Given the description of an element on the screen output the (x, y) to click on. 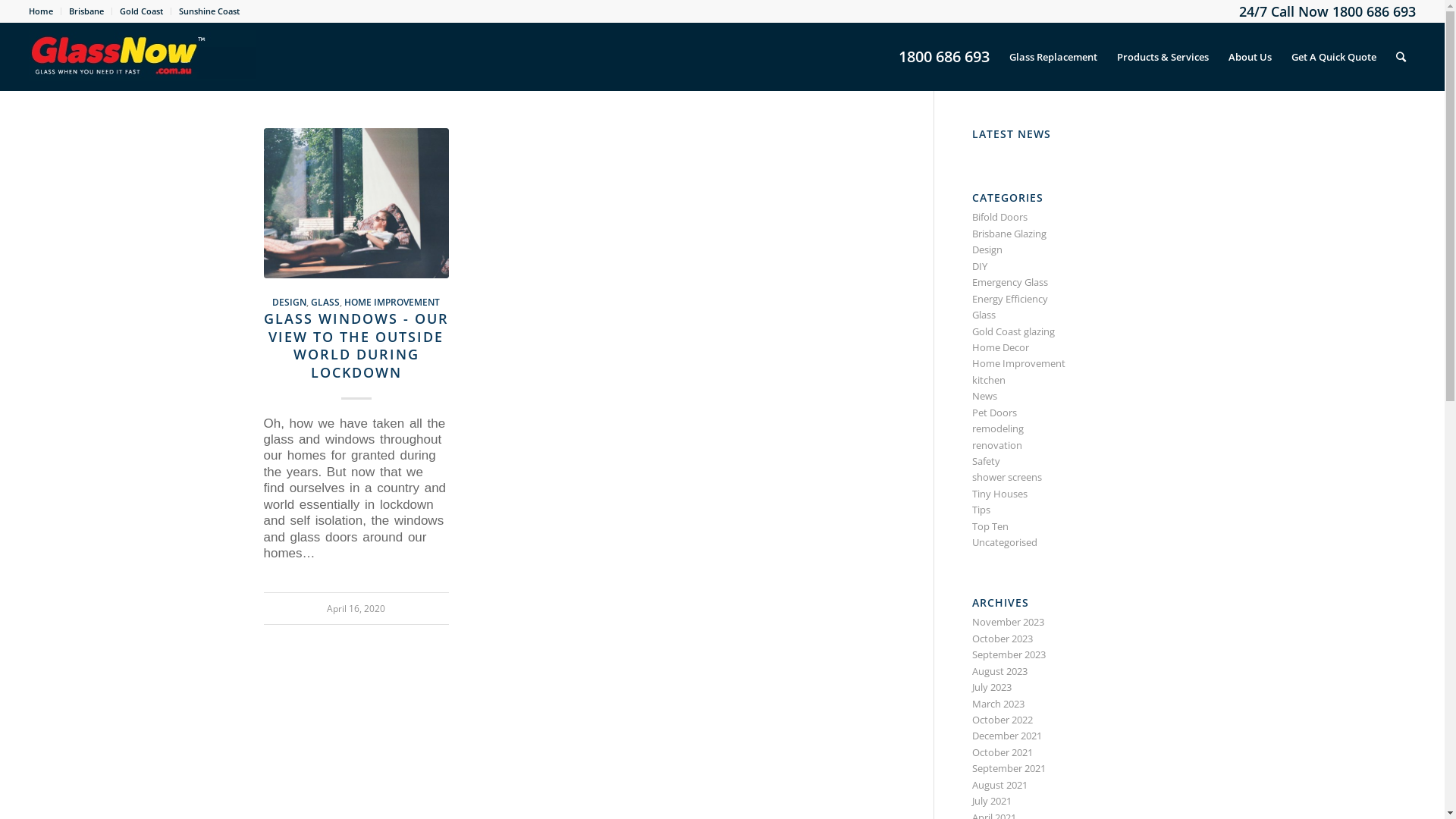
September 2023 Element type: text (1008, 654)
Home Improvement Element type: text (1018, 363)
August 2023 Element type: text (999, 670)
Glass Replacement Element type: text (1053, 56)
Bifold Doors Element type: text (999, 216)
Safety Element type: text (986, 460)
HOME IMPROVEMENT Element type: text (391, 301)
October 2023 Element type: text (1002, 638)
Energy Efficiency Element type: text (1010, 298)
Glass Element type: text (983, 314)
Tiny Houses Element type: text (999, 493)
Tips Element type: text (981, 509)
October 2022 Element type: text (1002, 719)
Get A Quick Quote Element type: text (1333, 56)
July 2023 Element type: text (991, 686)
Brisbane Element type: text (86, 10)
Emergency Glass Element type: text (1010, 281)
DESIGN Element type: text (289, 301)
Home Element type: text (40, 10)
September 2021 Element type: text (1008, 768)
March 2023 Element type: text (998, 703)
Products & Services Element type: text (1162, 56)
remodeling Element type: text (997, 428)
December 2021 Element type: text (1006, 735)
About Us Element type: text (1249, 56)
kitchen Element type: text (988, 379)
Brisbane Glazing Element type: text (1009, 233)
renovation Element type: text (997, 444)
Gold Coast glazing Element type: text (1013, 331)
News Element type: text (984, 395)
Pet Doors Element type: text (994, 412)
Uncategorised Element type: text (1004, 542)
24/7 Call Now 1800 686 693 Element type: text (1327, 11)
August 2021 Element type: text (999, 784)
Design Element type: text (987, 249)
October 2021 Element type: text (1002, 752)
shower screens Element type: text (1006, 476)
Gold Coast Element type: text (141, 10)
November 2023 Element type: text (1008, 621)
DIY Element type: text (979, 266)
Home Decor Element type: text (1000, 347)
1800 686 693 Element type: text (943, 56)
Top Ten Element type: text (990, 526)
Sunshine Coast Element type: text (208, 10)
July 2021 Element type: text (991, 800)
GLASS Element type: text (324, 301)
